Given the description of an element on the screen output the (x, y) to click on. 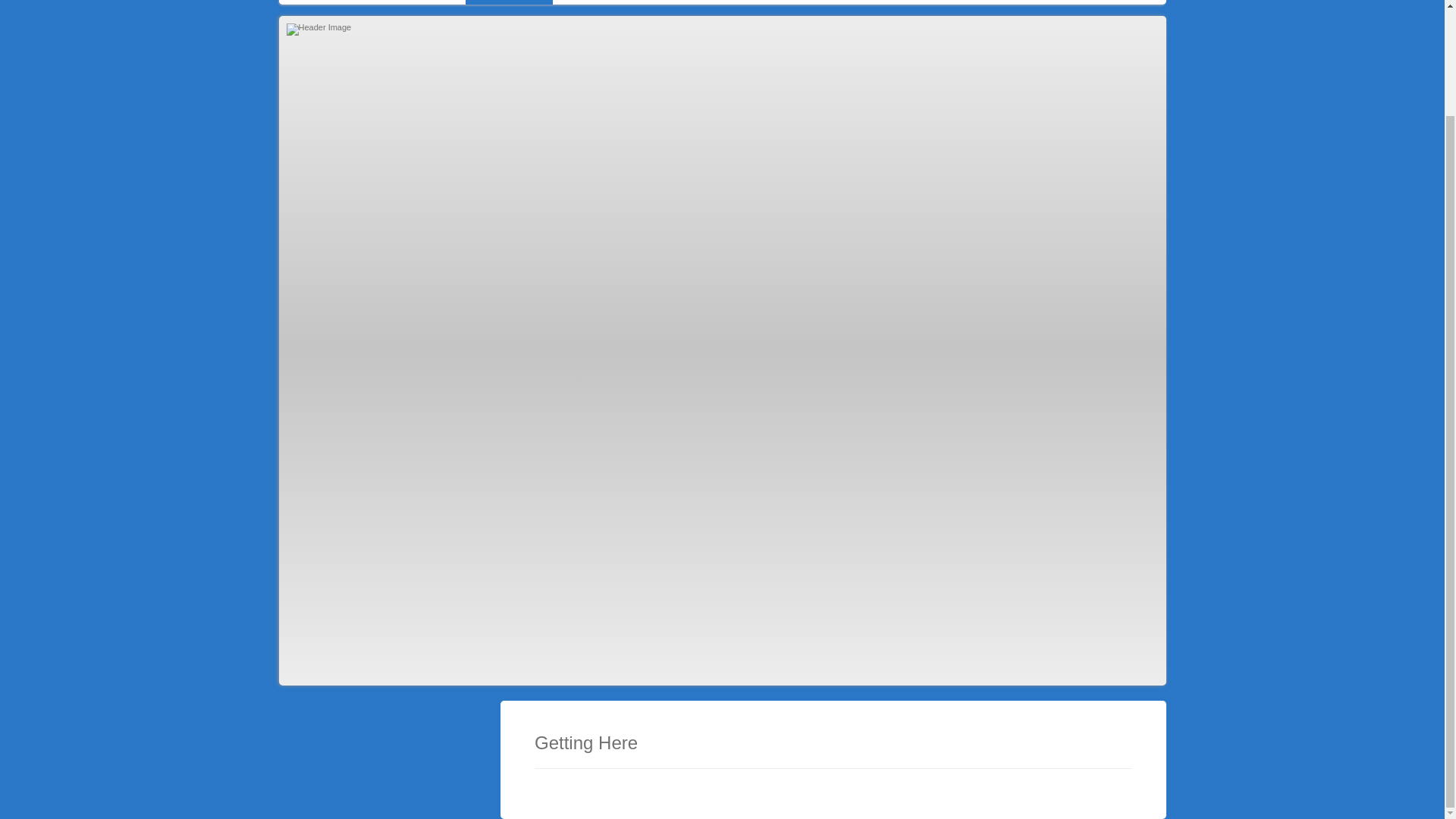
Availability (701, 2)
Getting Here (509, 2)
Rates (637, 2)
Guestbook (778, 2)
Home (305, 2)
Details (360, 2)
Photos (582, 2)
Enquiries (852, 2)
Local Area (426, 2)
